Given the description of an element on the screen output the (x, y) to click on. 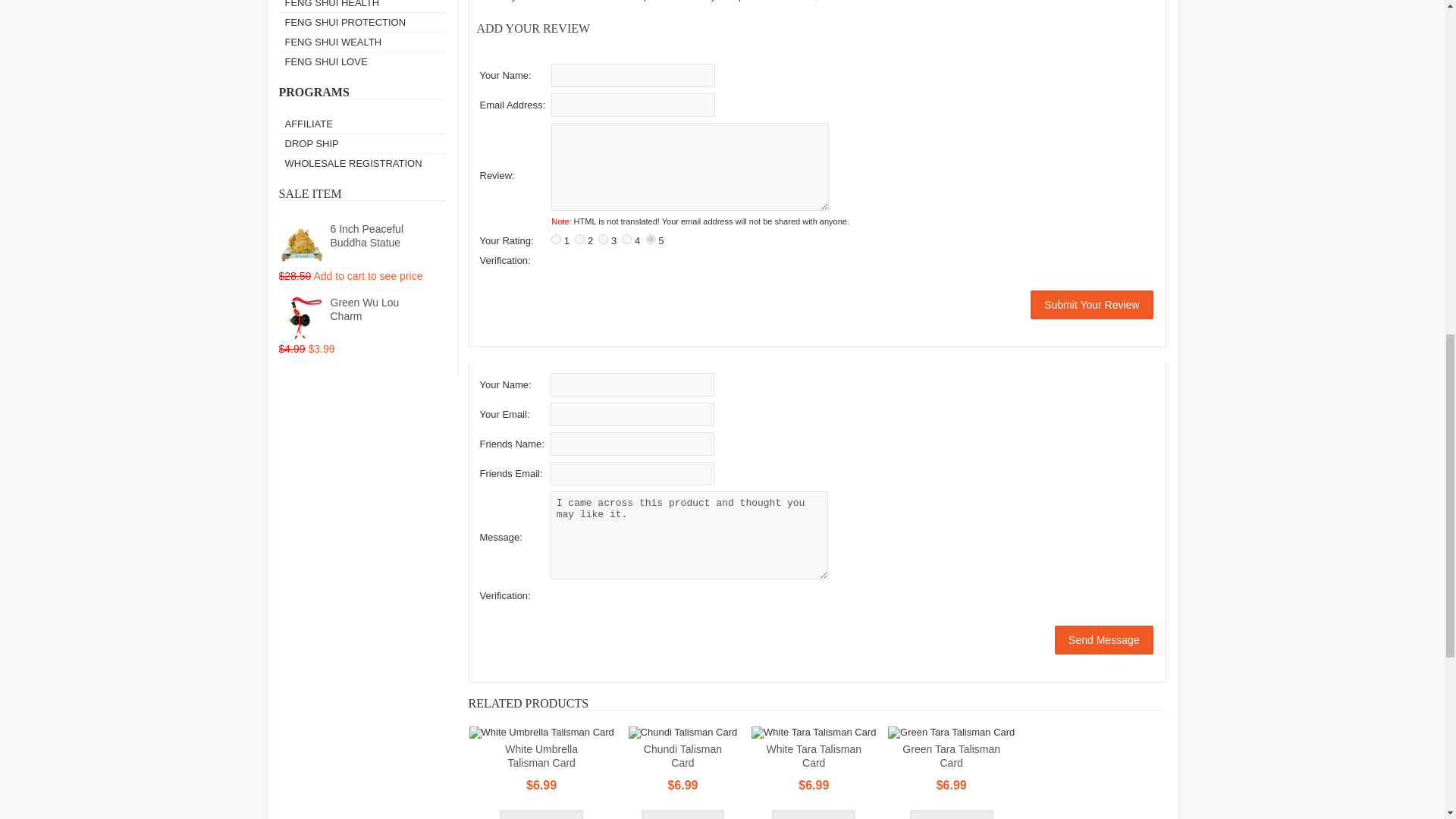
3 (603, 239)
Add To Cart (951, 814)
2 (580, 239)
Green Wu Lou Charm (301, 317)
5 (651, 239)
Add To Cart (683, 814)
4 (626, 239)
Add To Cart (541, 814)
6 Inch Peaceful Buddha Statue (301, 244)
1 (555, 239)
Add To Cart (813, 814)
